Given the description of an element on the screen output the (x, y) to click on. 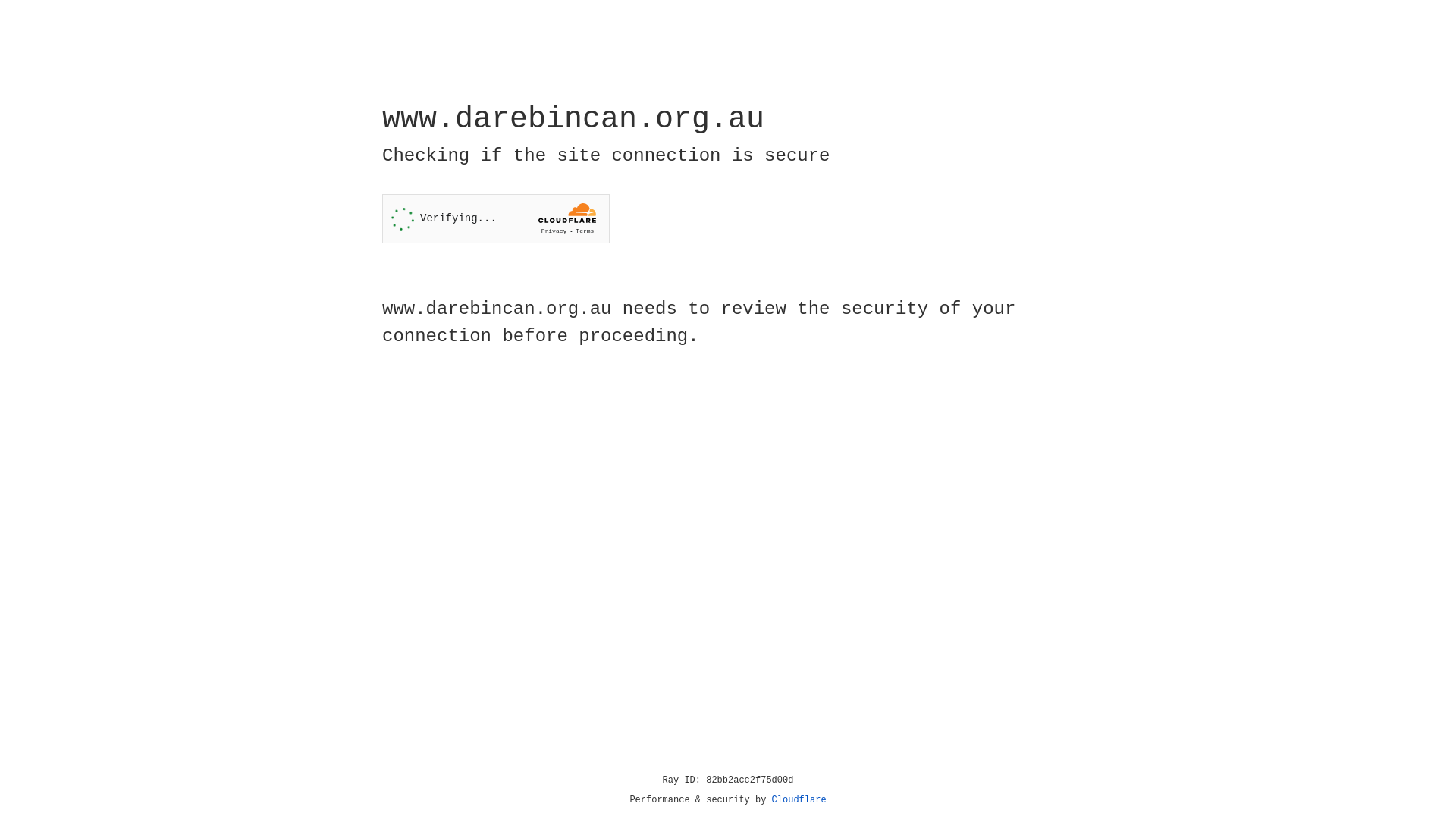
Widget containing a Cloudflare security challenge Element type: hover (495, 218)
Cloudflare Element type: text (798, 799)
